Given the description of an element on the screen output the (x, y) to click on. 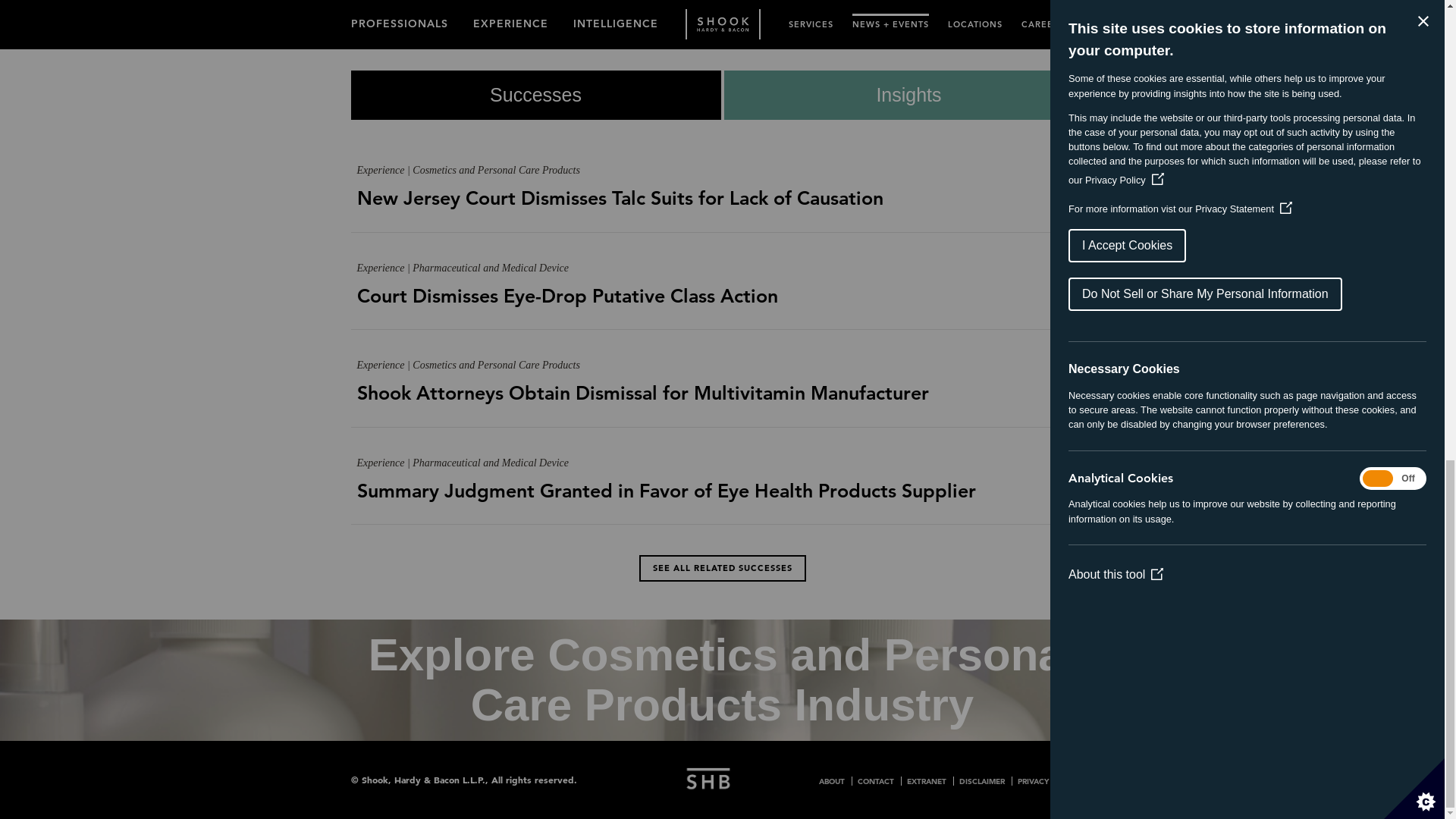
Successes (533, 94)
Court Dismisses Eye-Drop Putative Class Action (721, 310)
New Jersey Court Dismisses Talc Suits for Lack of Causation (721, 212)
Insights (906, 94)
SEE ALL RELATED SUCCESSES (722, 568)
